Given the description of an element on the screen output the (x, y) to click on. 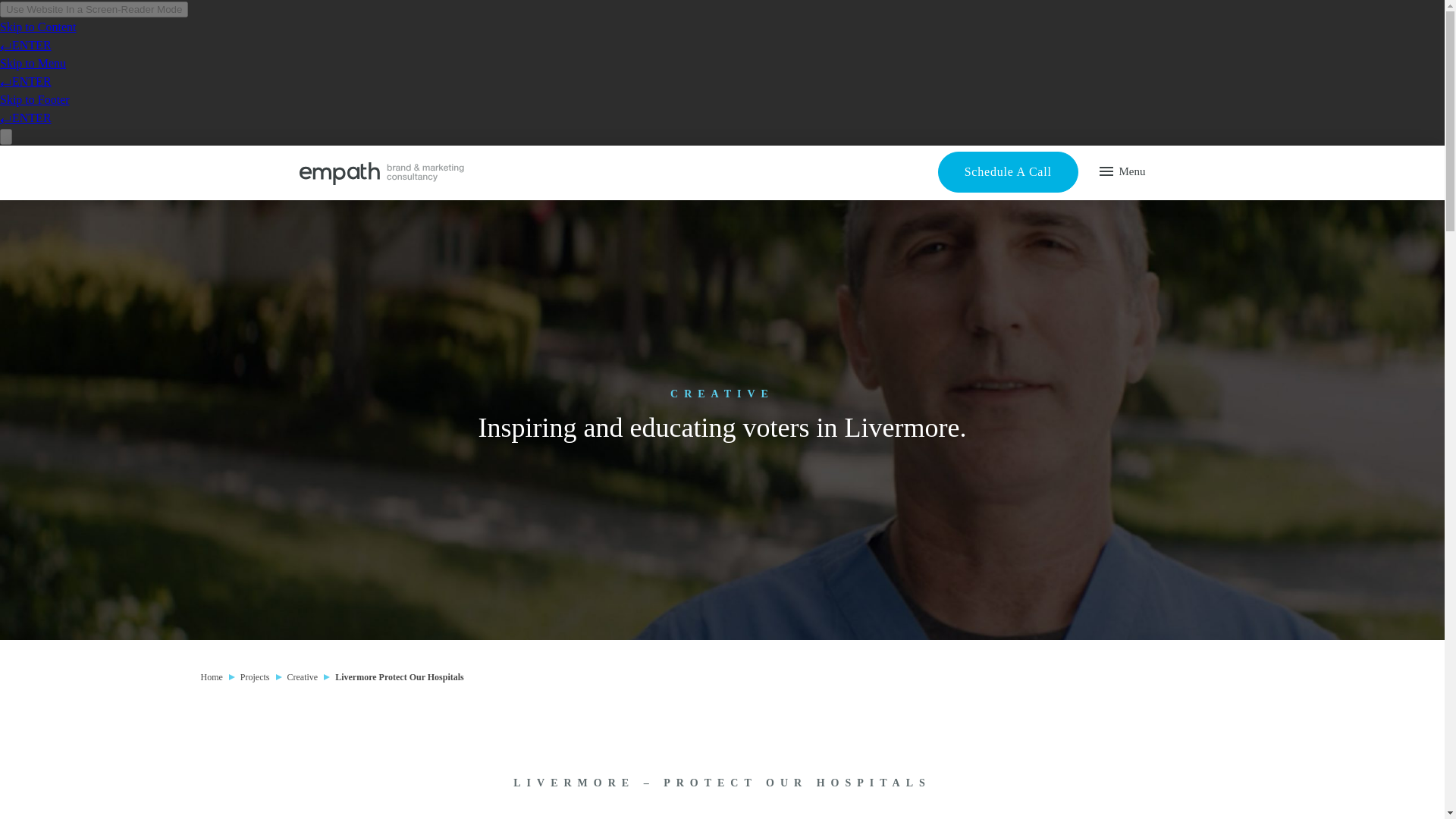
Schedule A Call (1007, 171)
Creative (301, 676)
Home (211, 676)
Projects (254, 676)
Menu (1122, 171)
